Given the description of an element on the screen output the (x, y) to click on. 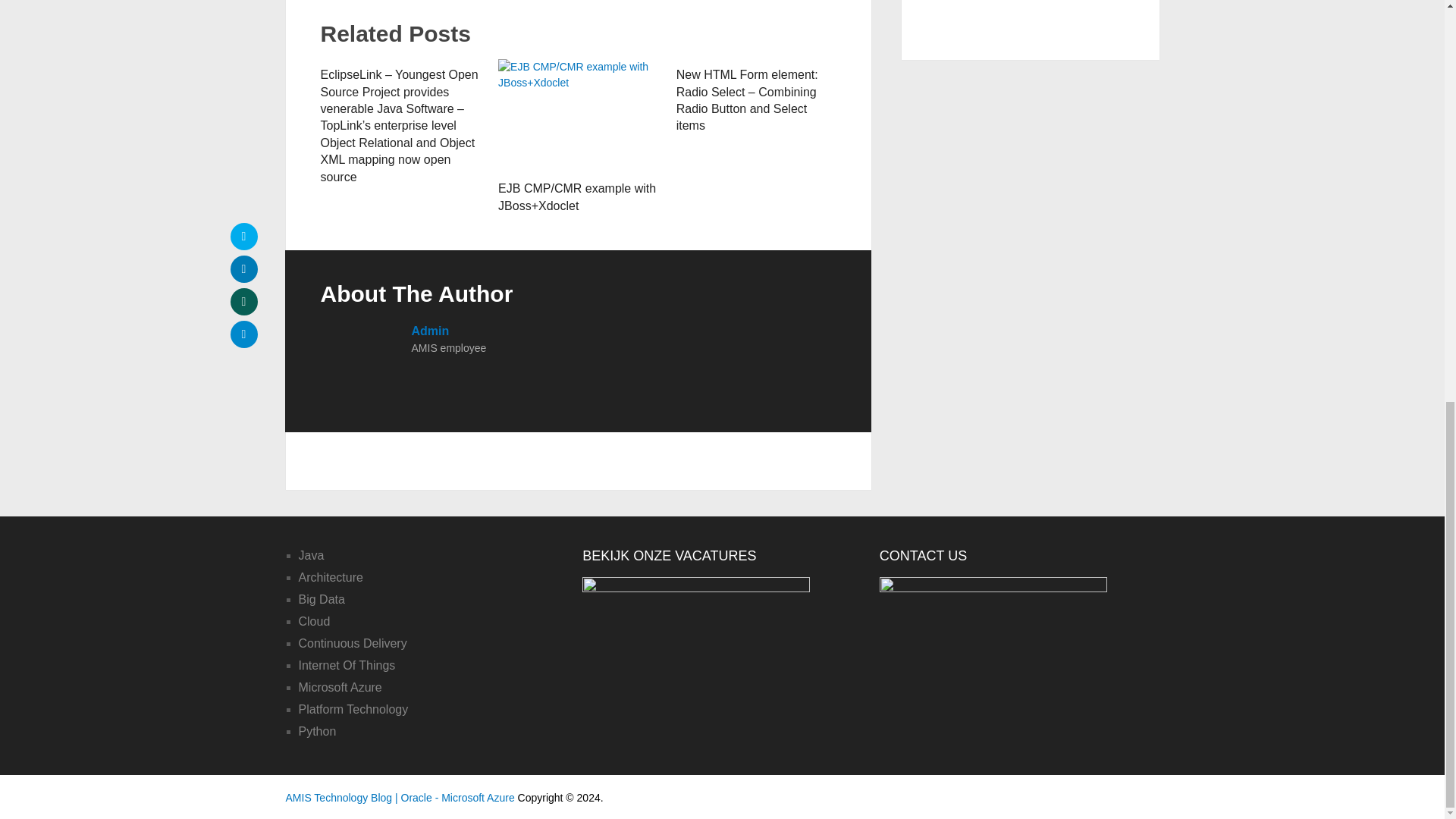
Java (311, 554)
Admin (429, 330)
20 years AMIS Technology Blog (1030, 13)
